Given the description of an element on the screen output the (x, y) to click on. 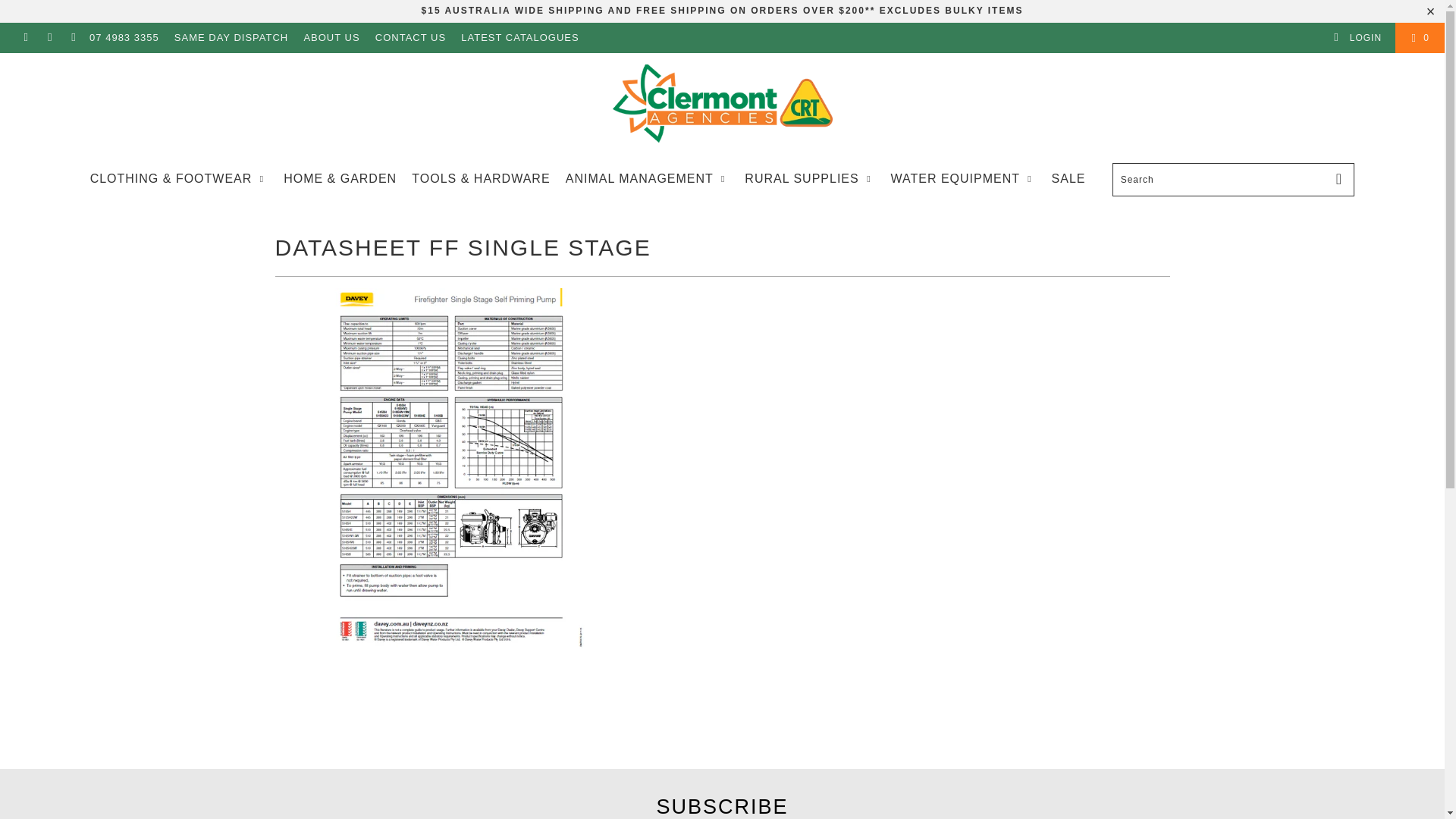
Email Clermont Agencies (73, 37)
My Account  (1357, 37)
Clermont Agencies on Instagram (48, 37)
Clermont Agencies on Facebook (25, 37)
